Given the description of an element on the screen output the (x, y) to click on. 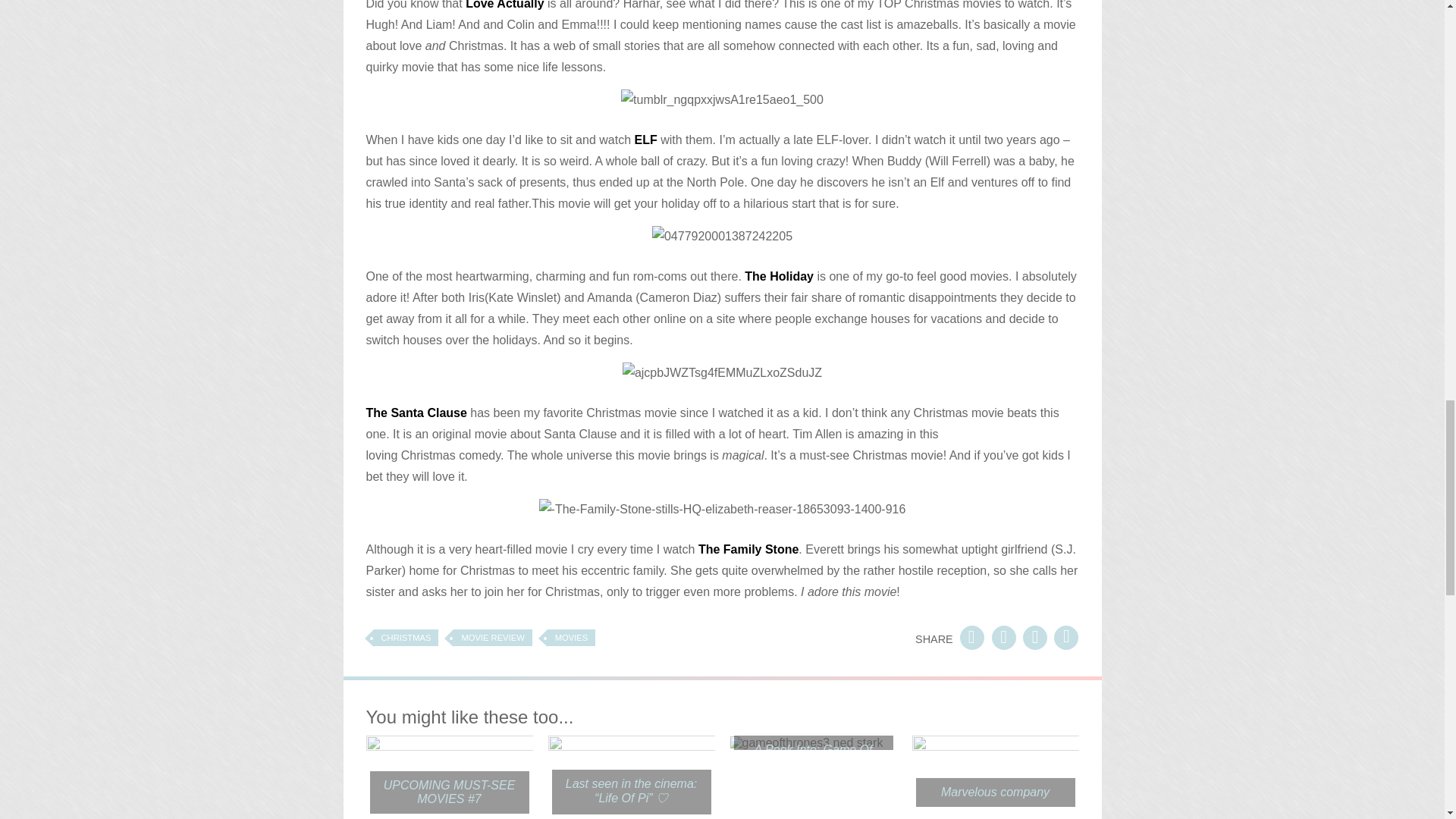
CHRISTMAS (405, 637)
Twitter (1034, 636)
A Peek Into: Game Of Thrones (813, 756)
Marvelous company (995, 792)
MOVIES (571, 637)
Facebook (971, 636)
MOVIE REVIEW (491, 637)
Twitter (1066, 636)
